Given the description of an element on the screen output the (x, y) to click on. 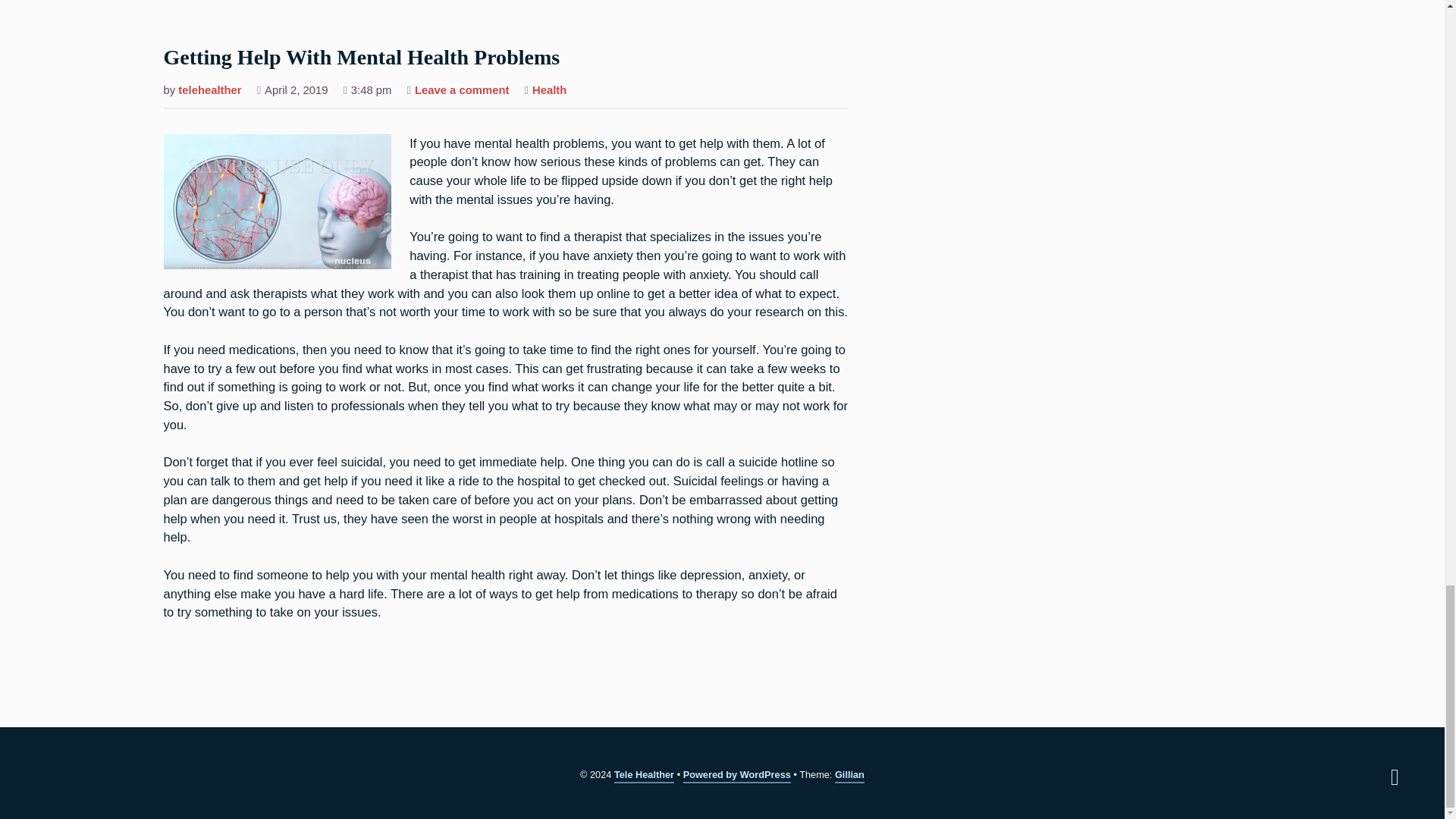
telehealther (209, 91)
Posts by telehealther (209, 91)
Tele Healther (461, 91)
Health (644, 775)
Back to top (549, 91)
Getting Help With Mental Health Problems (1394, 776)
Gillian (361, 58)
Powered by WordPress (849, 775)
